Given the description of an element on the screen output the (x, y) to click on. 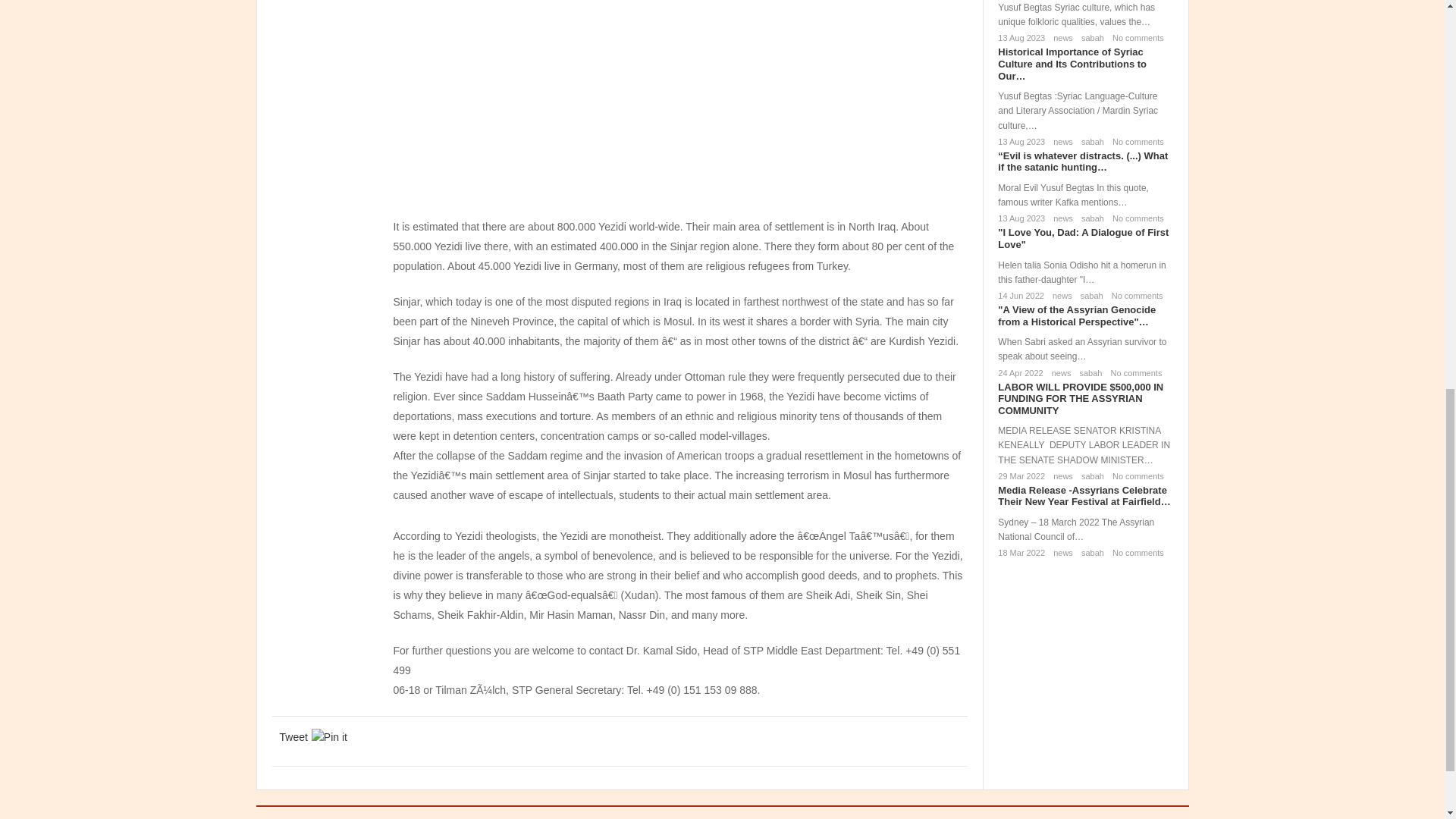
Advertisement (680, 105)
Tweet (293, 736)
Pin it (329, 736)
